Given the description of an element on the screen output the (x, y) to click on. 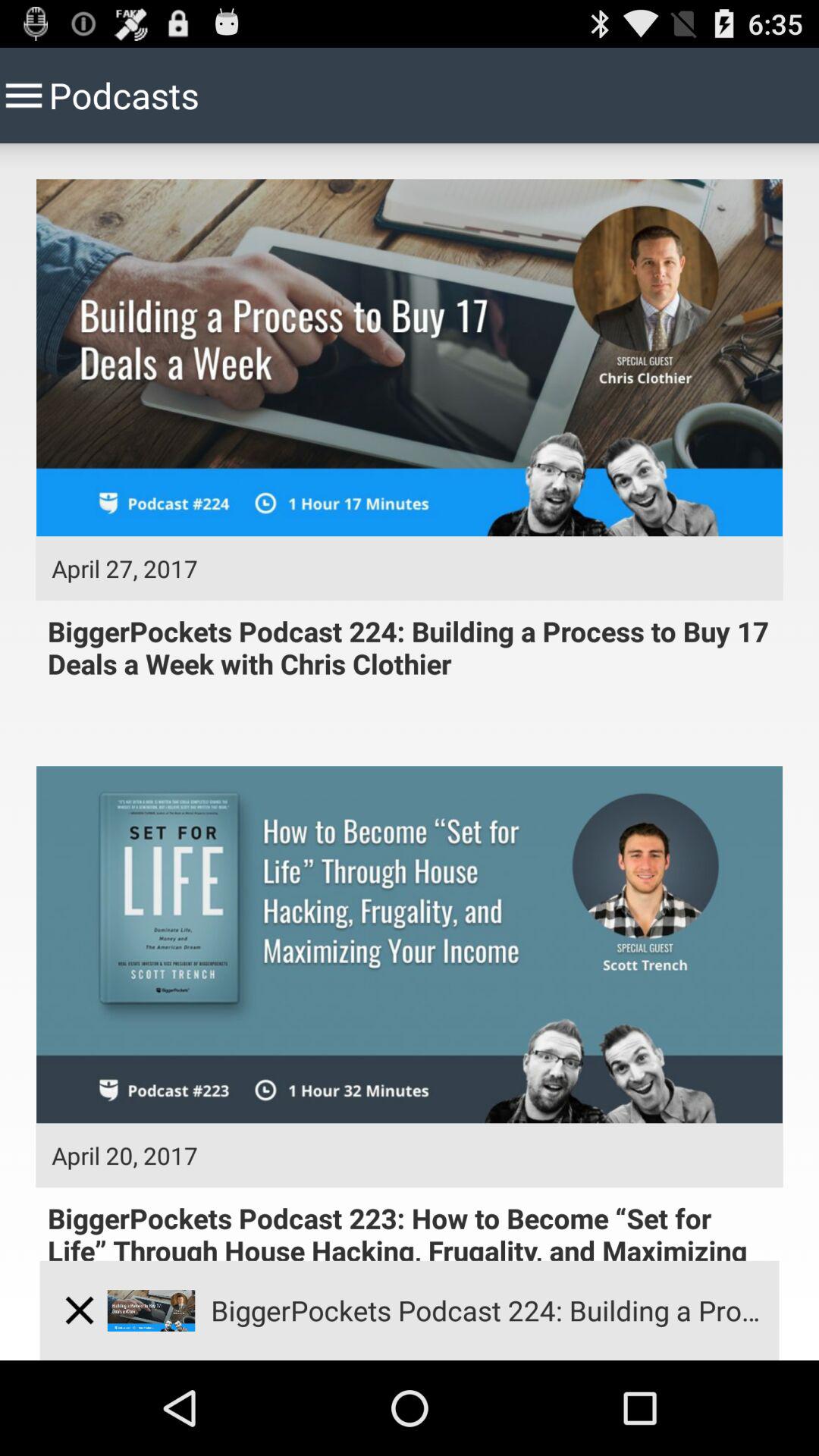
tap icon below april 20, 2017 icon (79, 1310)
